Given the description of an element on the screen output the (x, y) to click on. 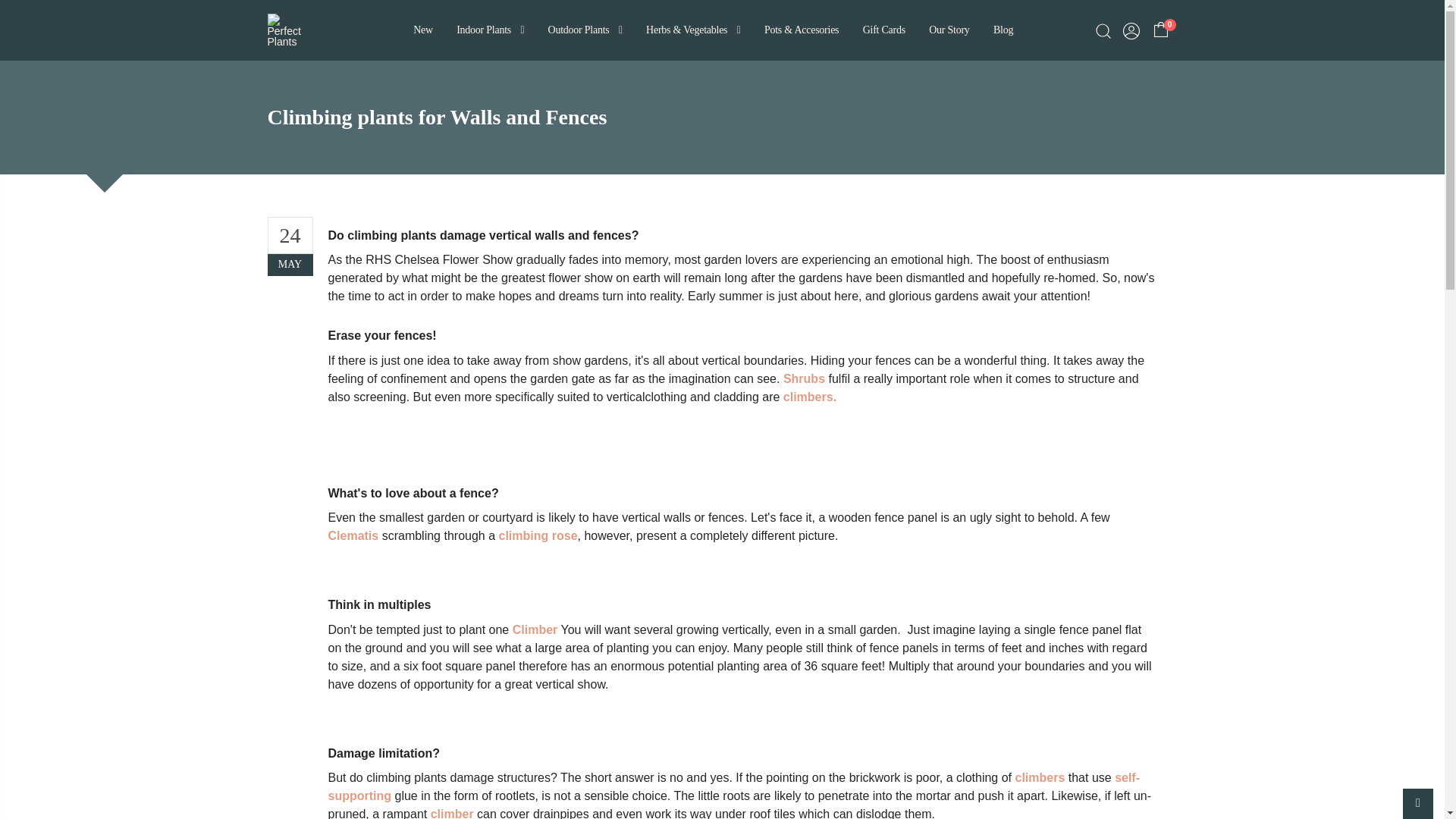
Indoor Plants (489, 30)
Climbers for sale from Perfect plants (809, 396)
New (421, 30)
Outdoor Plants (584, 30)
Climbers for sale from Perfect plants (534, 629)
Climbers for sale from Perfect plants (1039, 777)
Support Structures for your garden (733, 786)
Clematis Climbing Plants for your Fences (352, 535)
Shrubs for the garden (804, 378)
Our Story (947, 30)
Blog (1002, 30)
Gift Cards (883, 30)
Climbers for sale from Perfect plants (452, 813)
Roses for your Garden (538, 535)
